Given the description of an element on the screen output the (x, y) to click on. 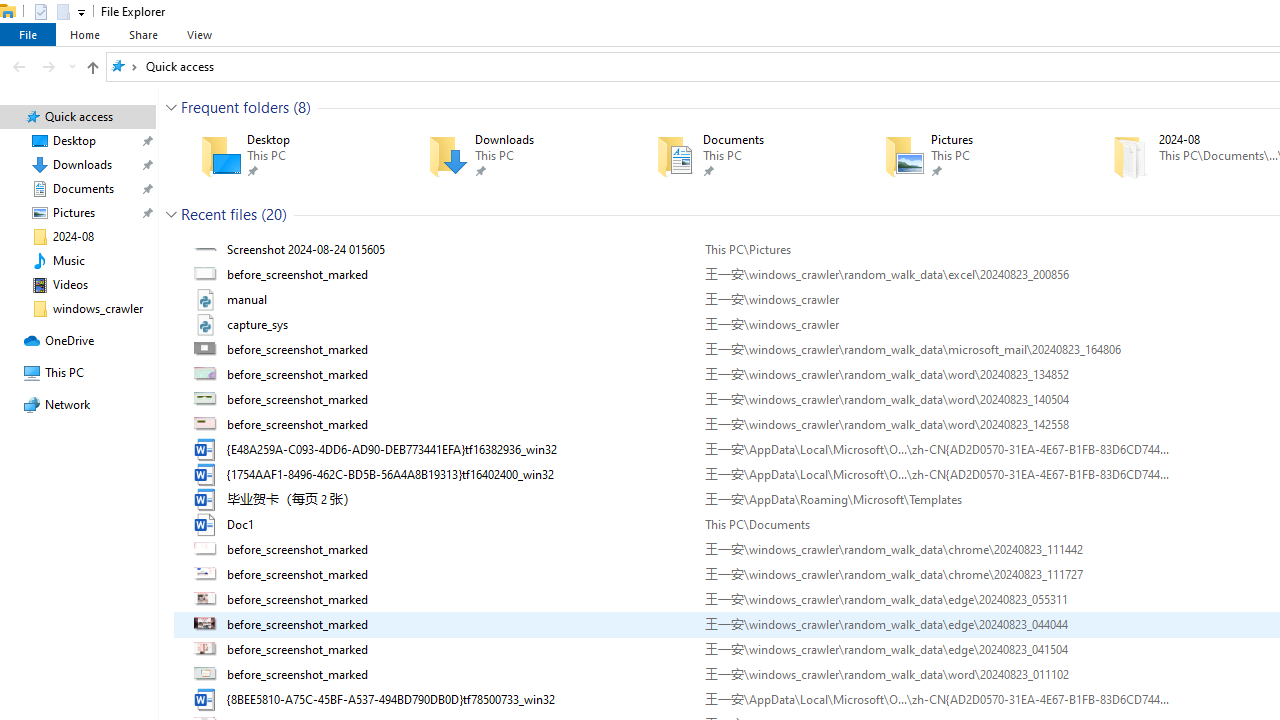
Path (936, 699)
View (199, 34)
Customize Quick Access Toolbar (81, 11)
Class: UIImage (207, 699)
Recent locations (71, 66)
All locations (124, 65)
System (10, 11)
Collapse Group (171, 213)
Desktop (286, 156)
Home (84, 34)
System (10, 11)
